Given the description of an element on the screen output the (x, y) to click on. 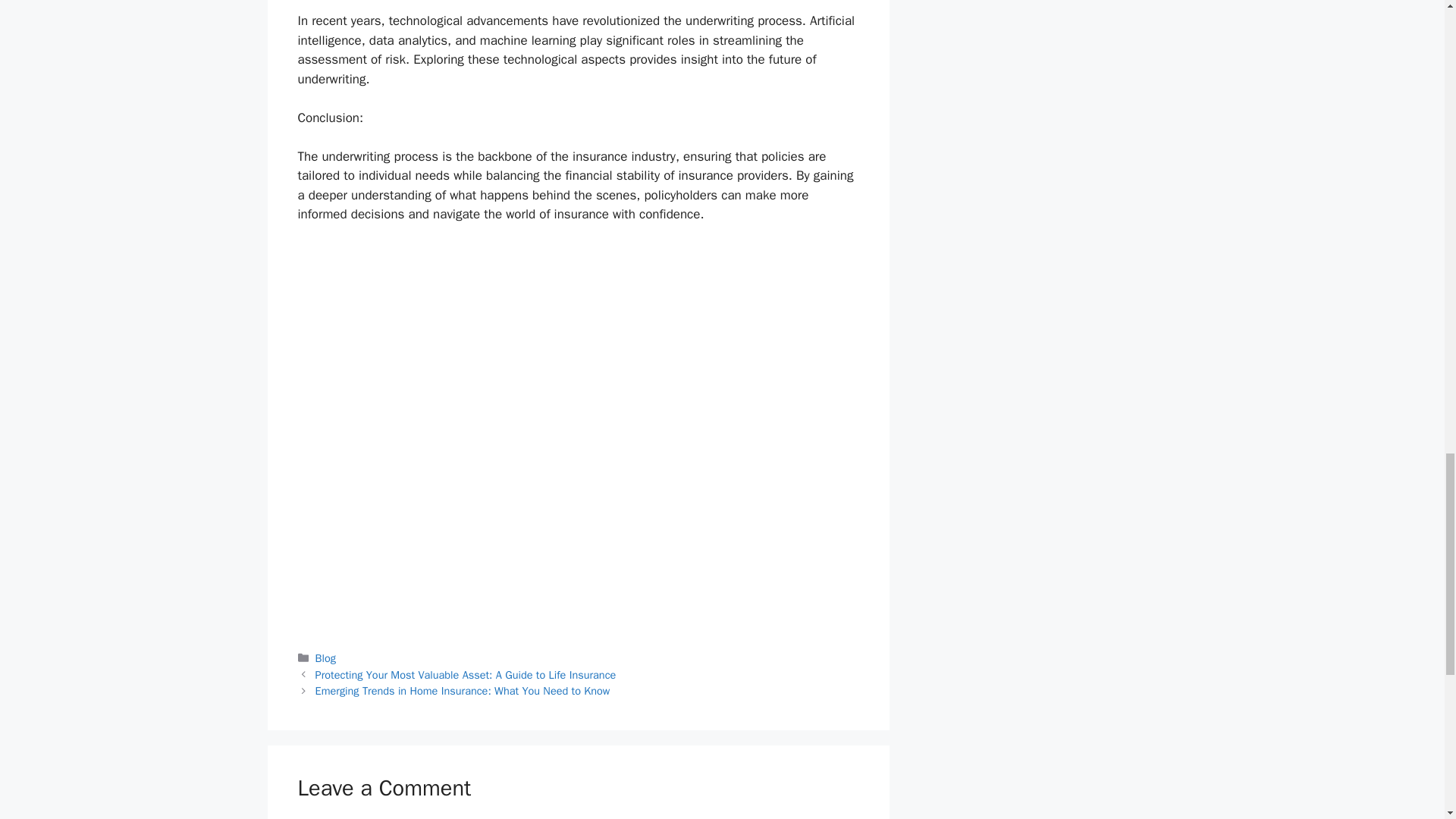
Emerging Trends in Home Insurance: What You Need to Know (462, 690)
Blog (325, 658)
